Given the description of an element on the screen output the (x, y) to click on. 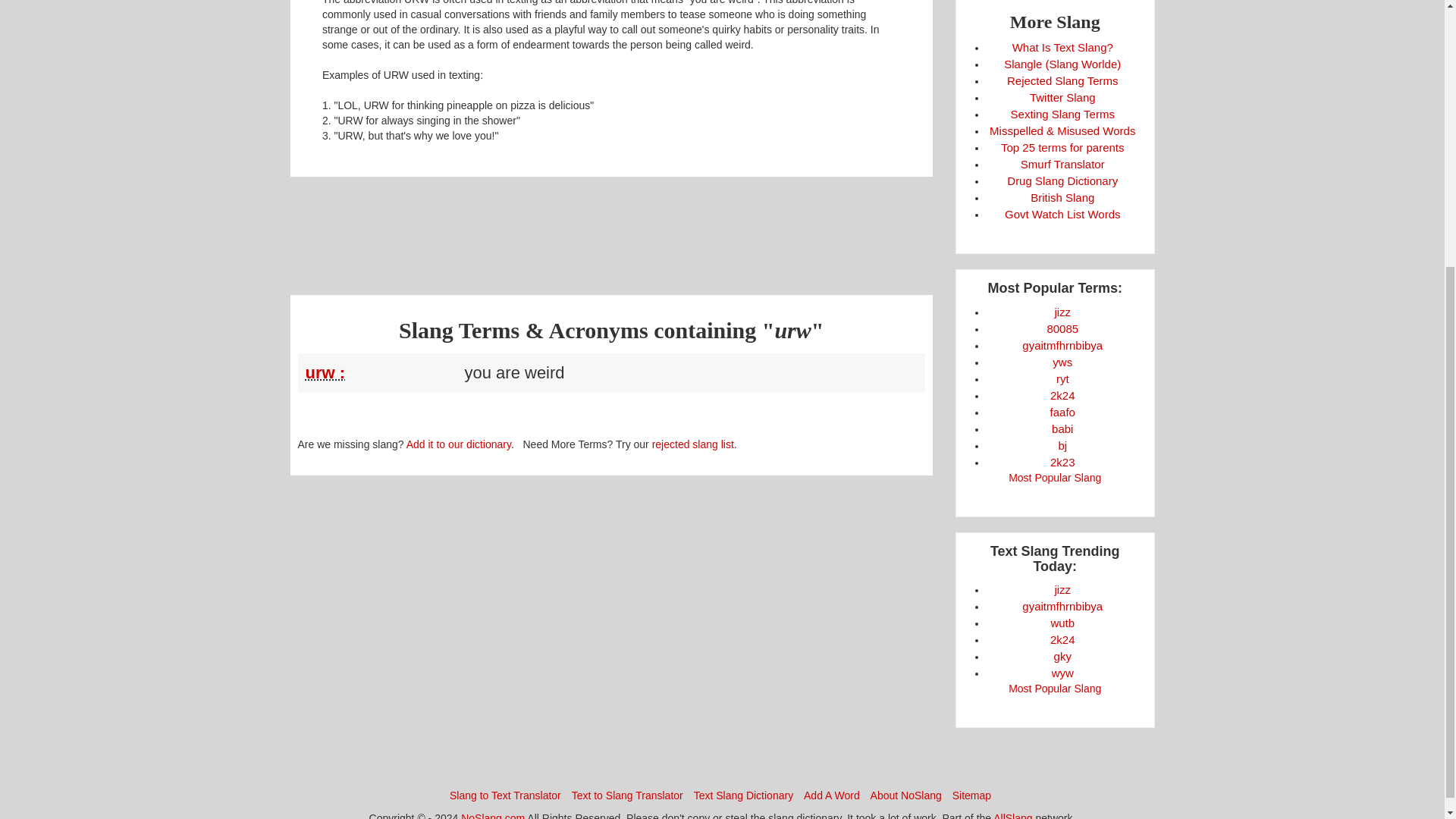
Add it to our dictionary (458, 444)
rejected slang list (692, 444)
urw : (324, 372)
2023 (1062, 461)
you want sex (1061, 361)
Boobs (1062, 328)
gyaitmfhrnbibya (1062, 345)
Go kill yourself (1062, 656)
2k23 (1062, 461)
